Given the description of an element on the screen output the (x, y) to click on. 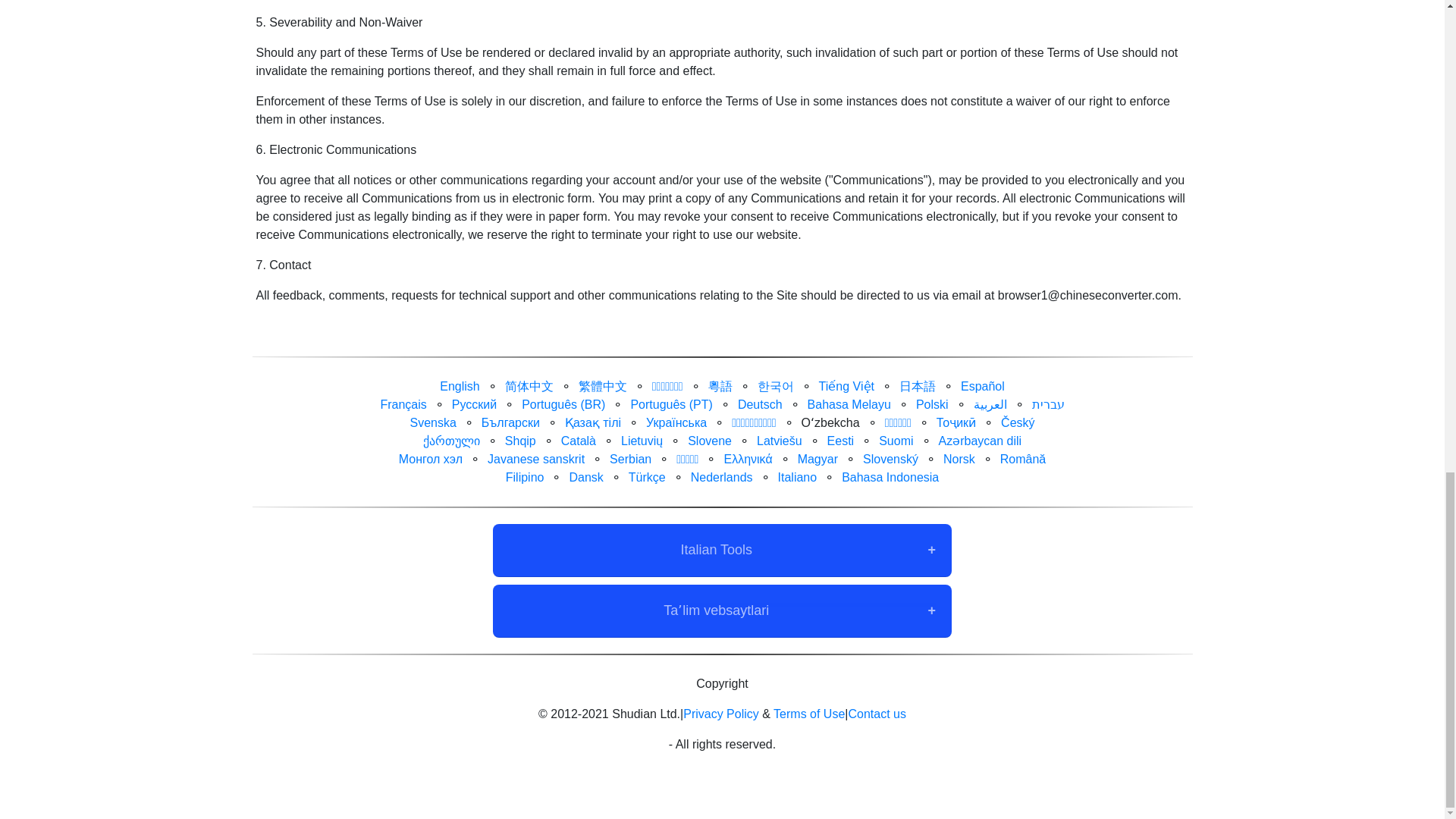
Bahasa Melayu (849, 404)
Deutsch (760, 404)
Polski (932, 404)
Svenska (432, 422)
English (459, 386)
